Given the description of an element on the screen output the (x, y) to click on. 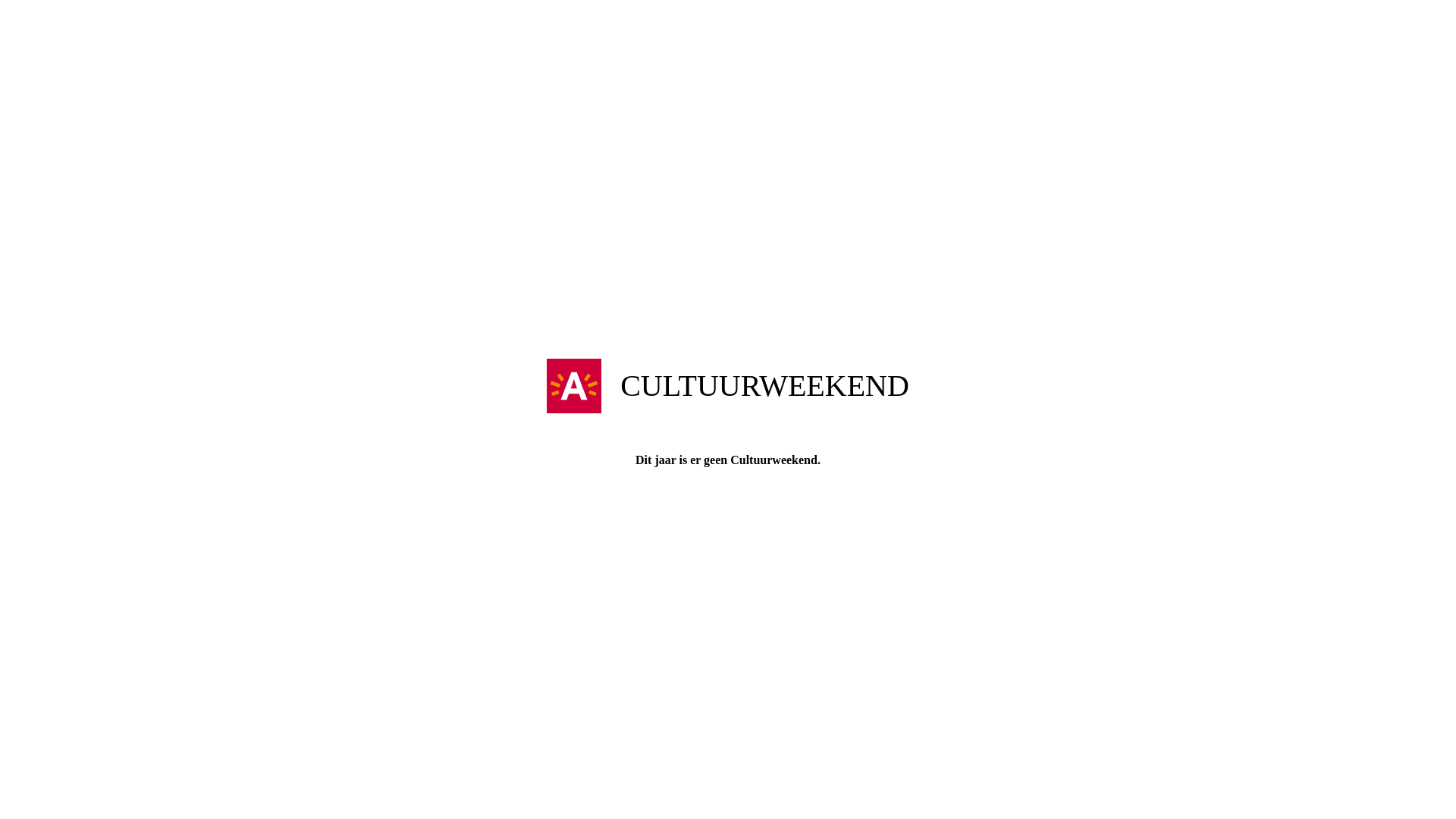
Overslaan en naar de inhoud gaan Element type: text (727, 1)
